Given the description of an element on the screen output the (x, y) to click on. 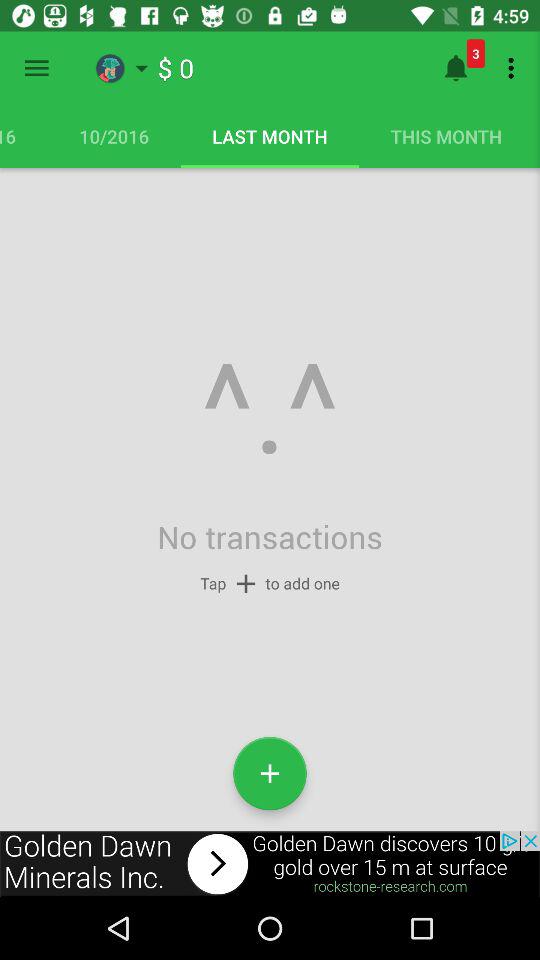
go to link in advertisement (270, 864)
